Given the description of an element on the screen output the (x, y) to click on. 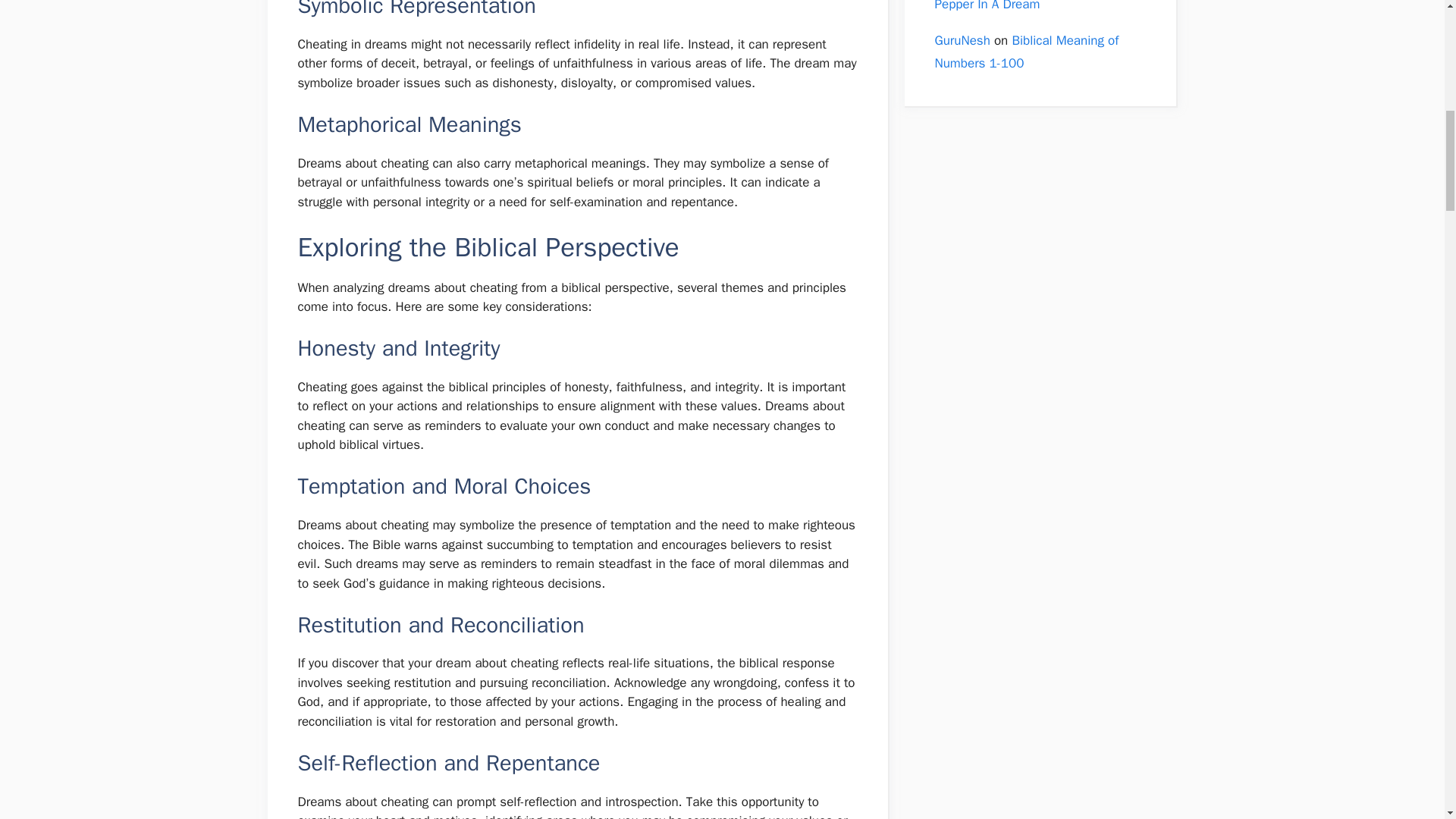
Biblical Meaning Of Red Pepper In A Dream (1027, 6)
Biblical Meaning of Numbers 1-100 (1026, 52)
GuruNesh (962, 40)
